Given the description of an element on the screen output the (x, y) to click on. 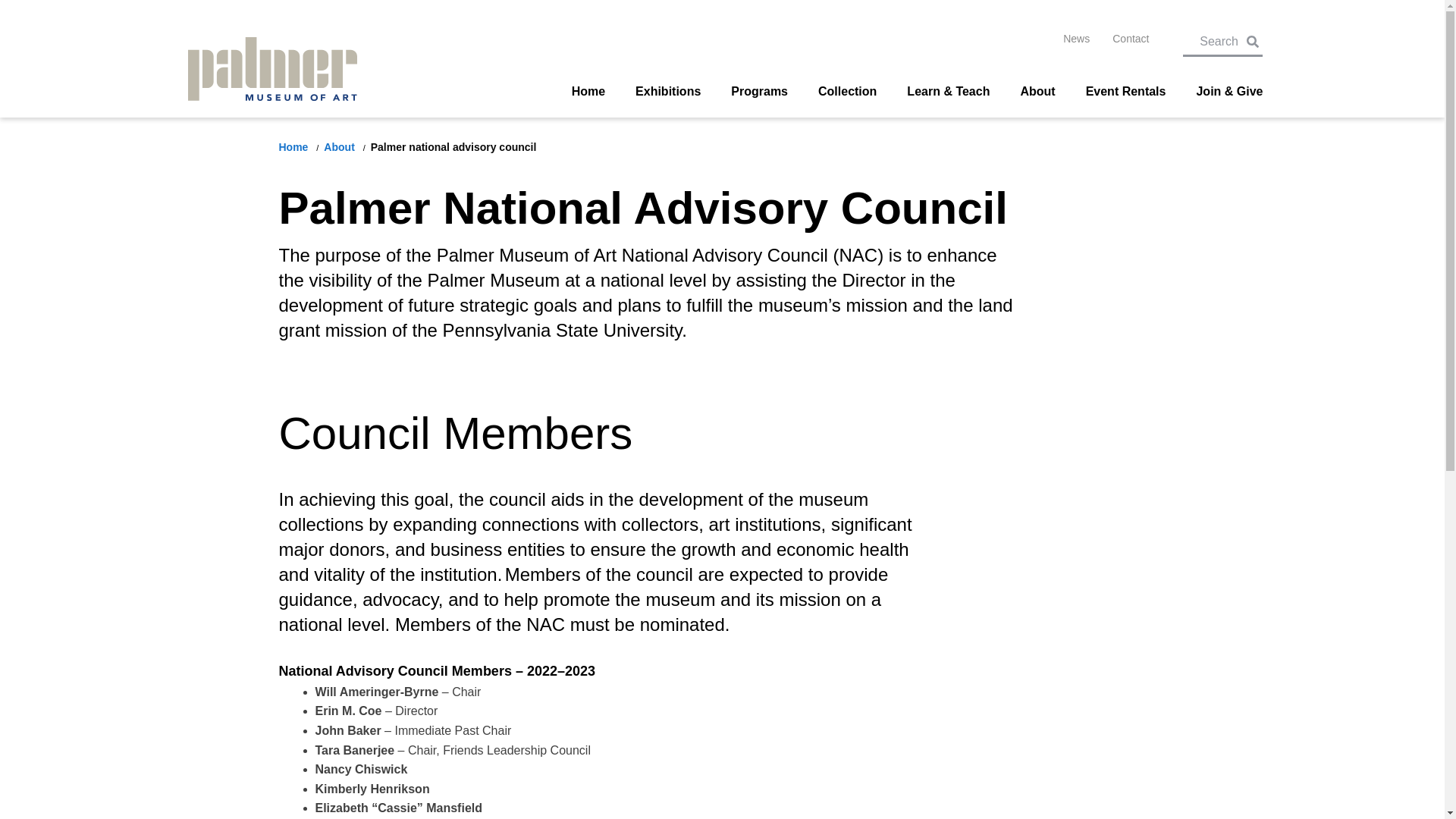
Programs (758, 91)
Contact (1130, 38)
News (1075, 38)
Exhibitions (667, 91)
Event Rentals (1126, 91)
Collection (847, 91)
About (339, 146)
Search (1227, 39)
Palmer national advisory council (454, 146)
About (1037, 91)
Home (588, 91)
Home (295, 146)
